Given the description of an element on the screen output the (x, y) to click on. 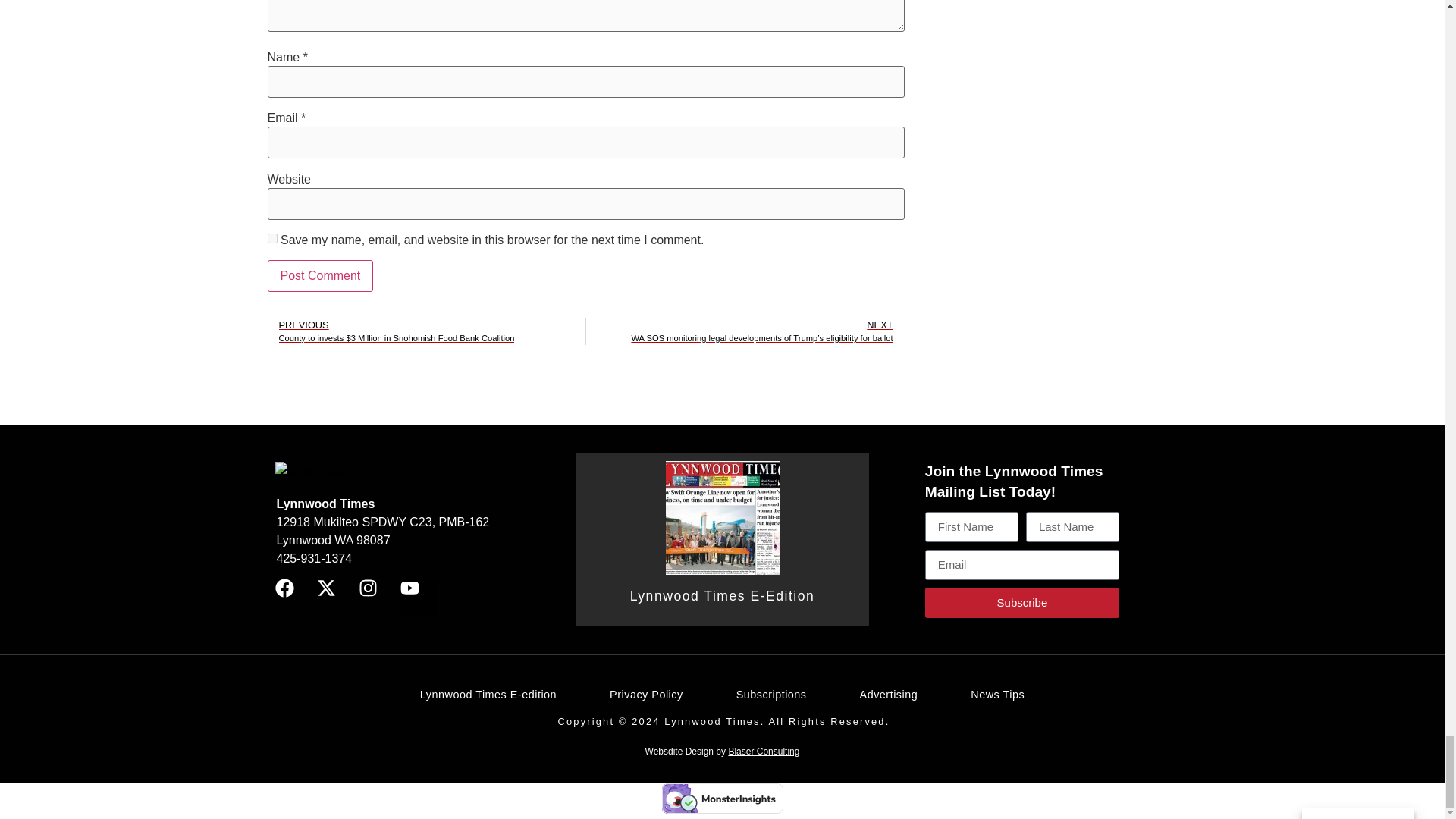
Post Comment (319, 275)
yes (271, 238)
